Given the description of an element on the screen output the (x, y) to click on. 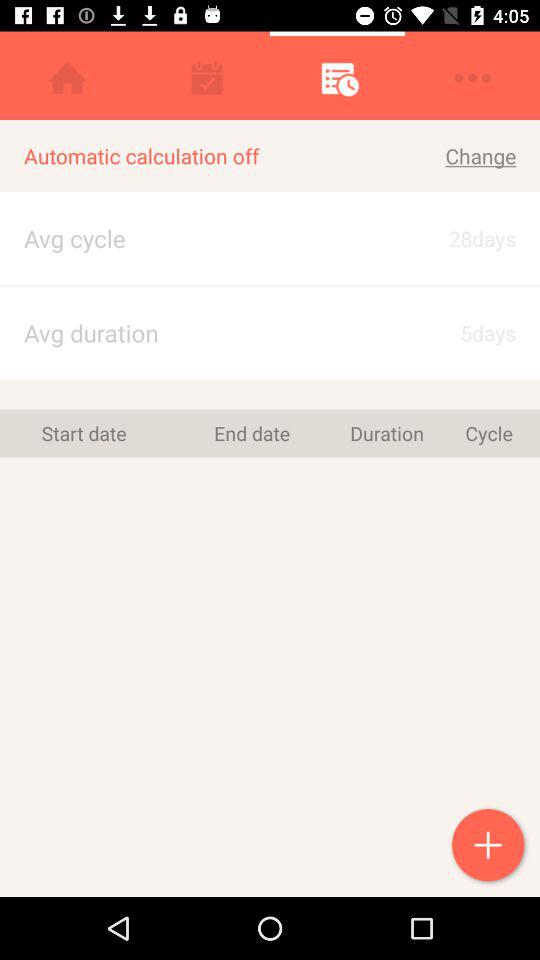
swipe until 5days (463, 332)
